Given the description of an element on the screen output the (x, y) to click on. 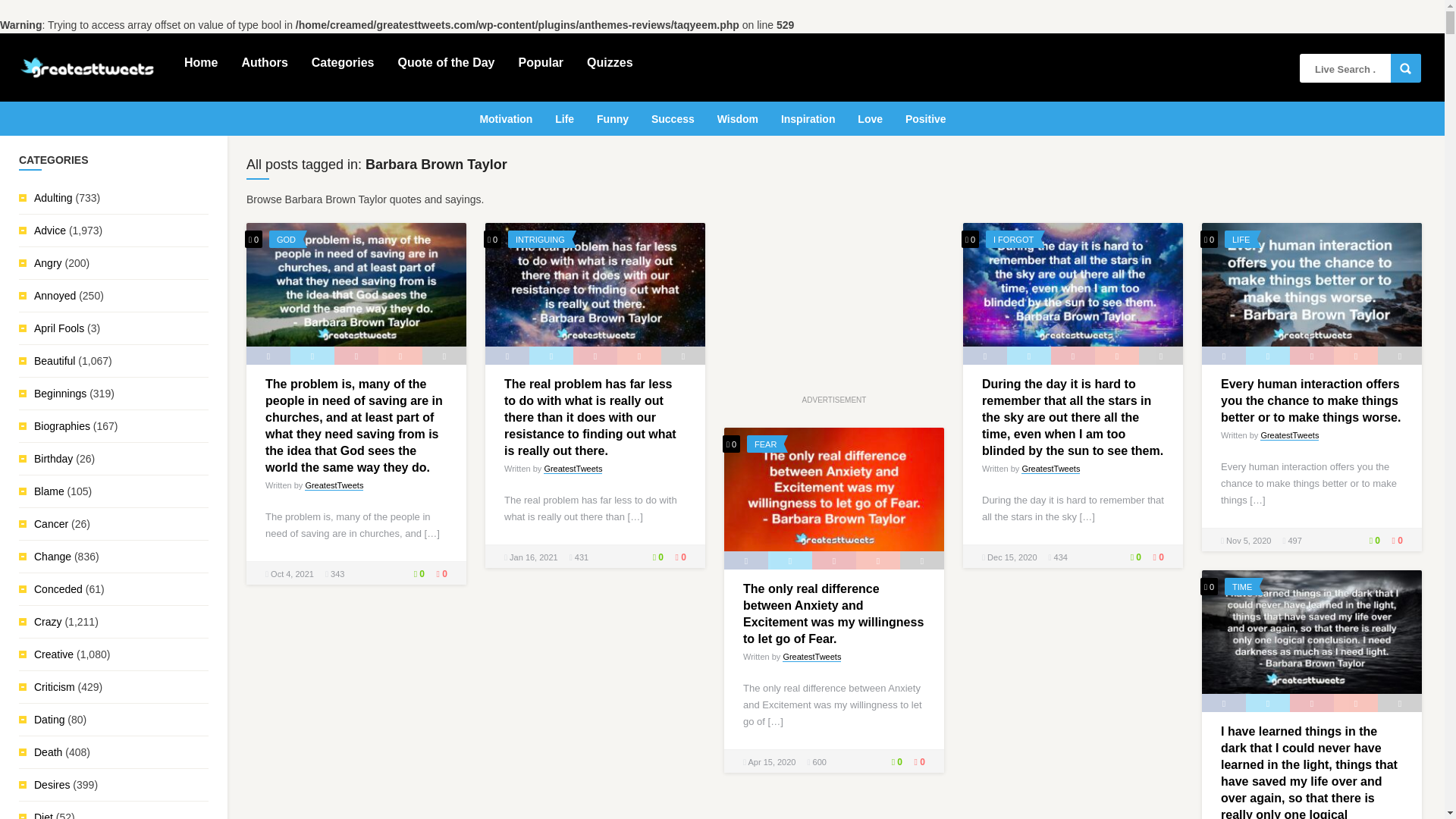
Birthday (52, 458)
Angry (47, 263)
Success (672, 117)
Quote of the Day (445, 60)
Beginnings (59, 393)
Beautiful (54, 360)
Diet (42, 815)
Inspiration (807, 117)
Blame (48, 491)
Desires (51, 784)
